Given the description of an element on the screen output the (x, y) to click on. 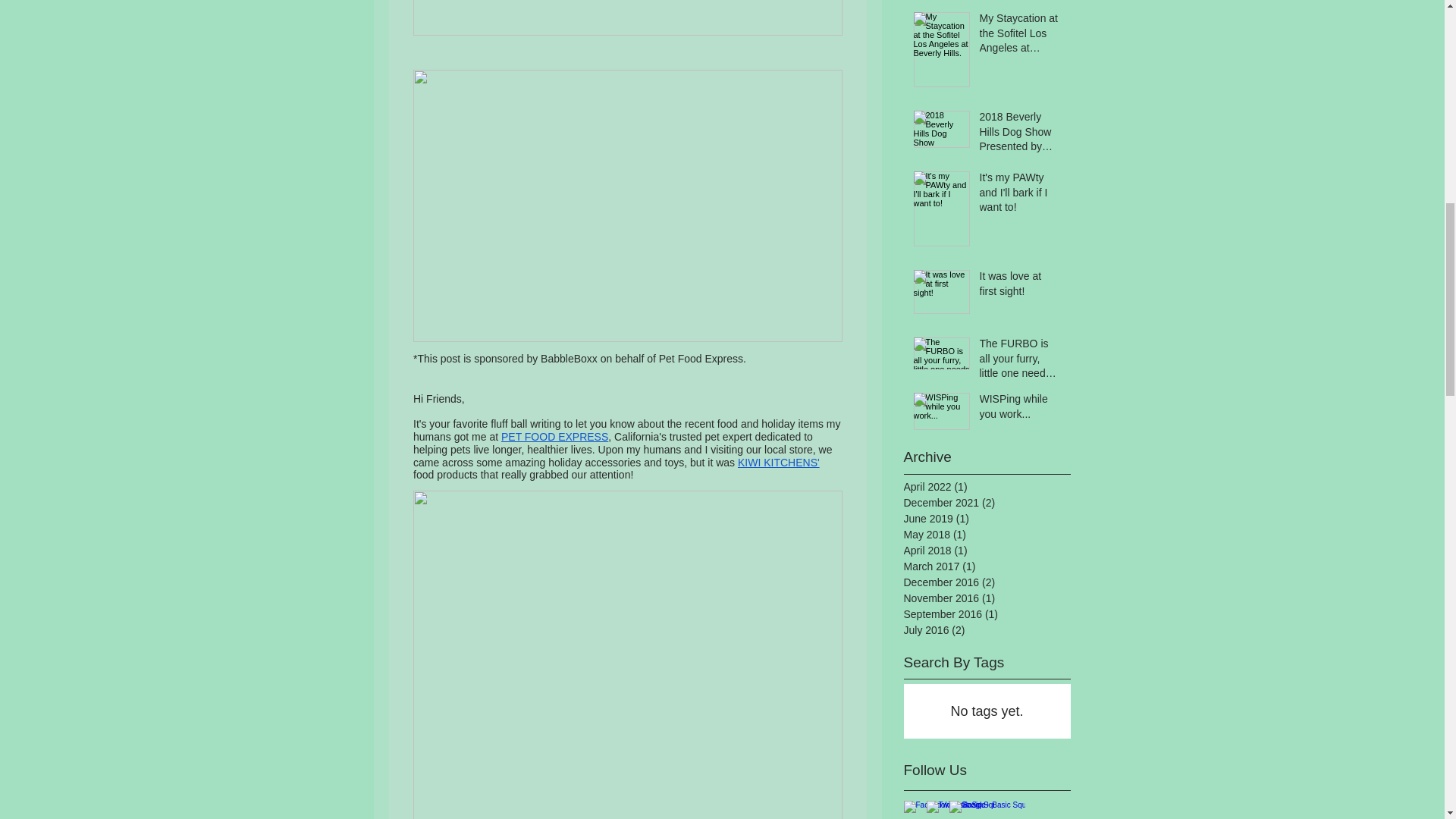
It was love at first sight! (1020, 286)
WISPing while you work... (1020, 409)
KIWI KITCHENS' (777, 462)
It's my PAWty and I'll bark if I want to! (1020, 195)
PET FOOD EXPRESS (553, 436)
My Staycation at the Sofitel Los Angeles at Beverly Hills. (1020, 36)
